Given the description of an element on the screen output the (x, y) to click on. 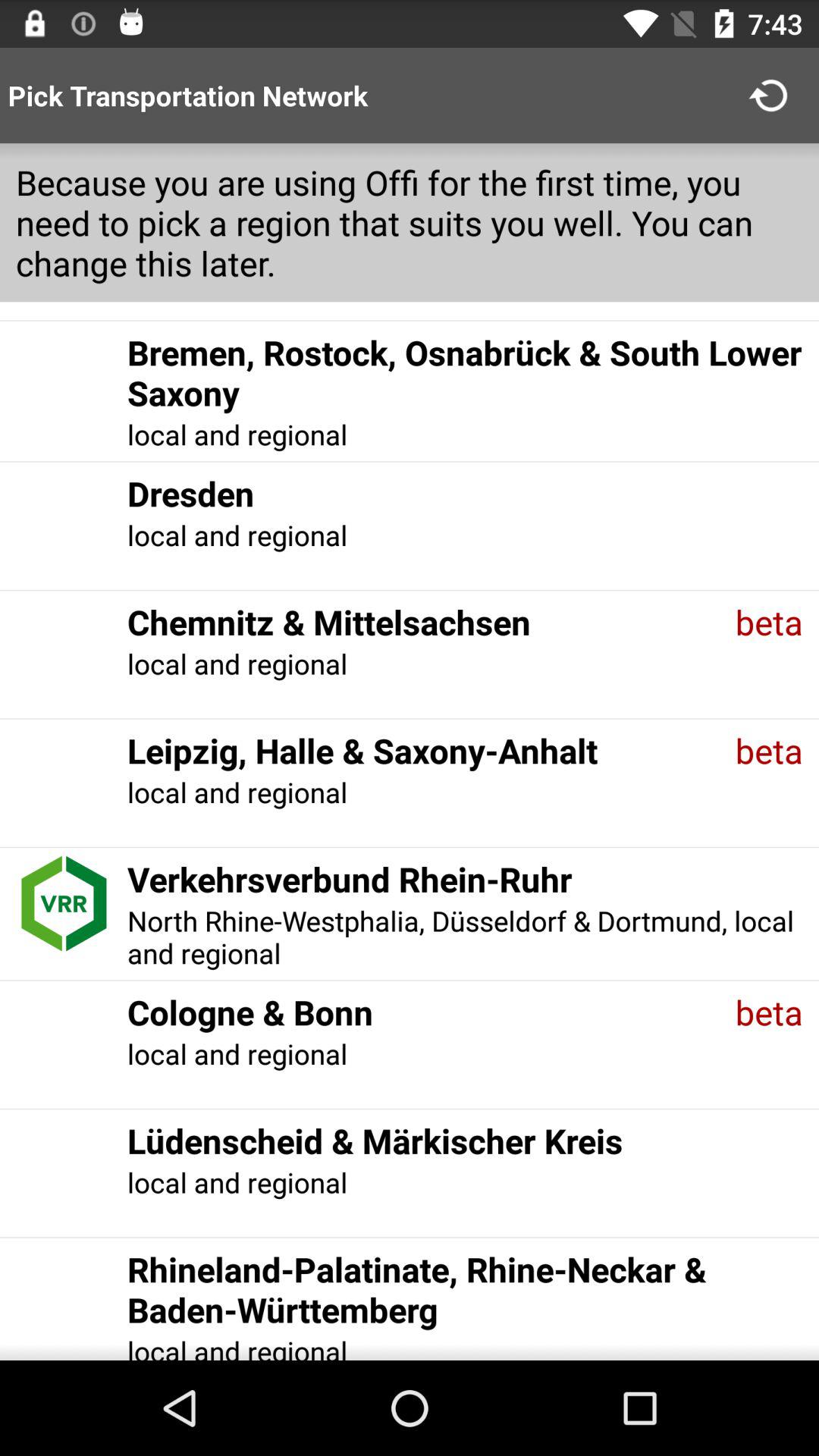
click the item to the right of pick transportation network item (771, 95)
